Given the description of an element on the screen output the (x, y) to click on. 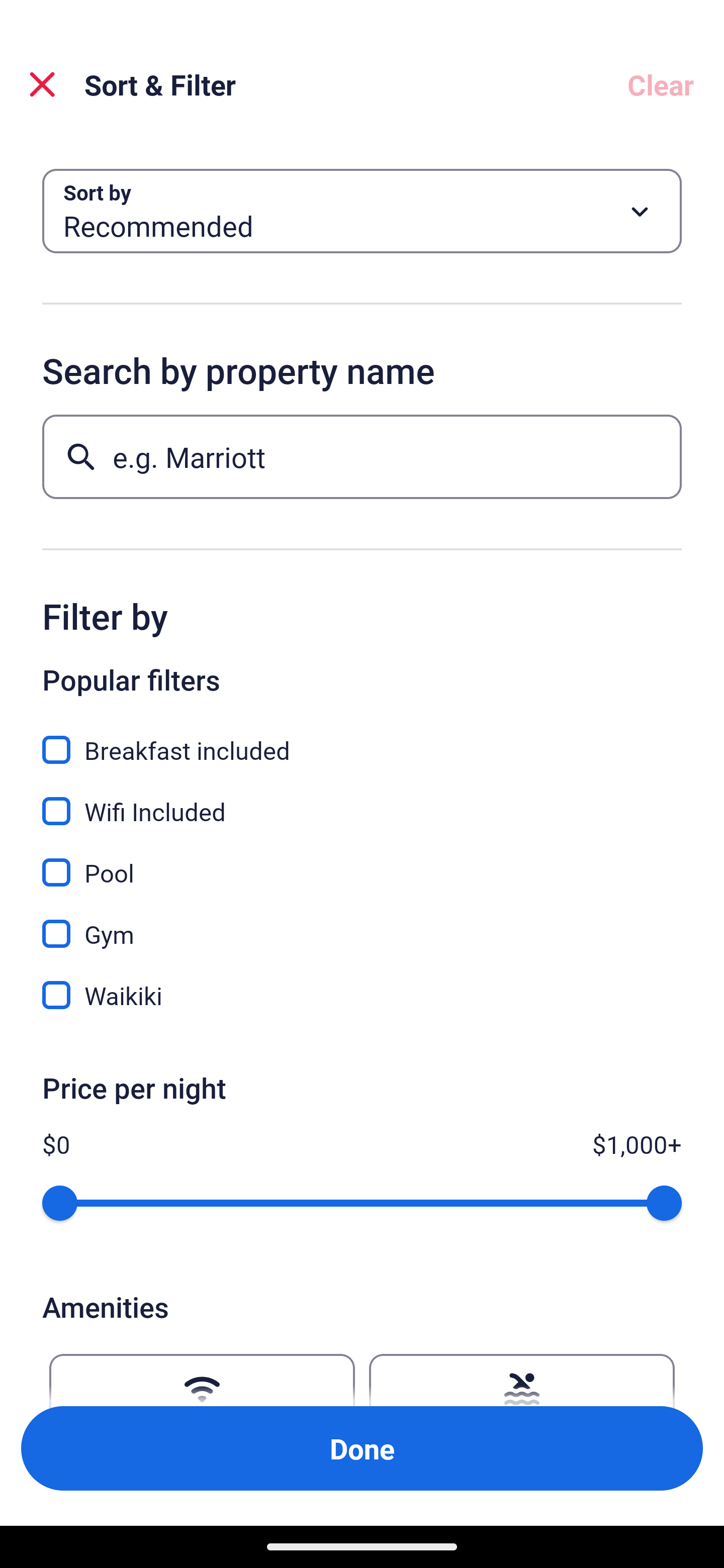
Close Sort and Filter (42, 84)
Clear (660, 84)
Sort by Button Recommended (361, 211)
e.g. Marriott Button (361, 455)
Breakfast included, Breakfast included (361, 738)
Wifi Included, Wifi Included (361, 800)
Pool, Pool (361, 861)
Gym, Gym (361, 922)
Waikiki, Waikiki (361, 995)
Apply and close Sort and Filter Done (361, 1448)
